Given the description of an element on the screen output the (x, y) to click on. 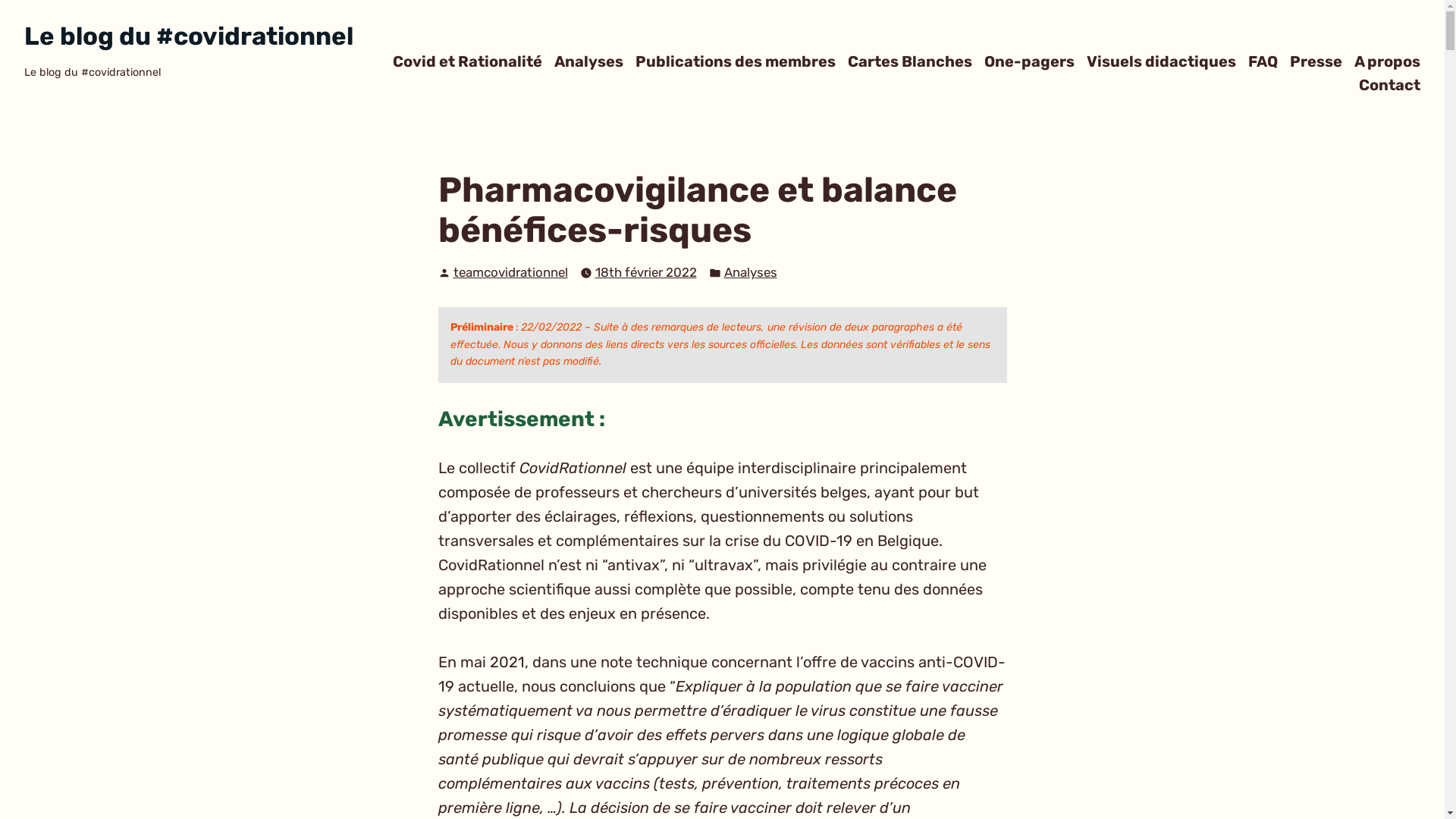
FAQ Element type: text (1262, 60)
A propos Element type: text (1387, 60)
Analyses Element type: text (588, 60)
Presse Element type: text (1315, 60)
teamcovidrationnel Element type: text (510, 271)
Publications des membres Element type: text (735, 60)
One-pagers Element type: text (1029, 60)
Contact Element type: text (1389, 85)
Cartes Blanches Element type: text (909, 60)
Visuels didactiques Element type: text (1161, 60)
Analyses Element type: text (749, 272)
Le blog du #covidrationnel Element type: text (188, 35)
